Given the description of an element on the screen output the (x, y) to click on. 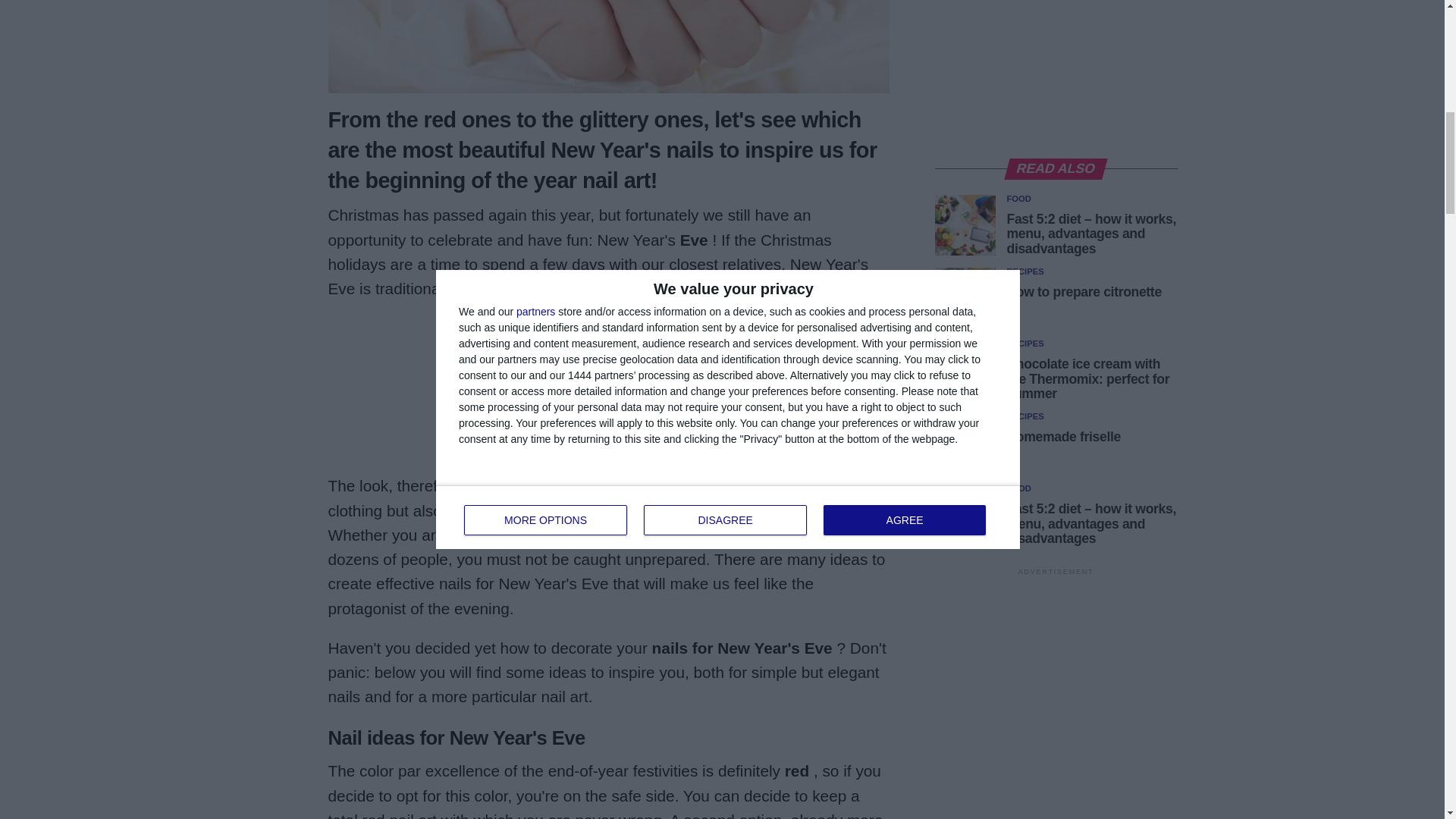
make (491, 510)
